Given the description of an element on the screen output the (x, y) to click on. 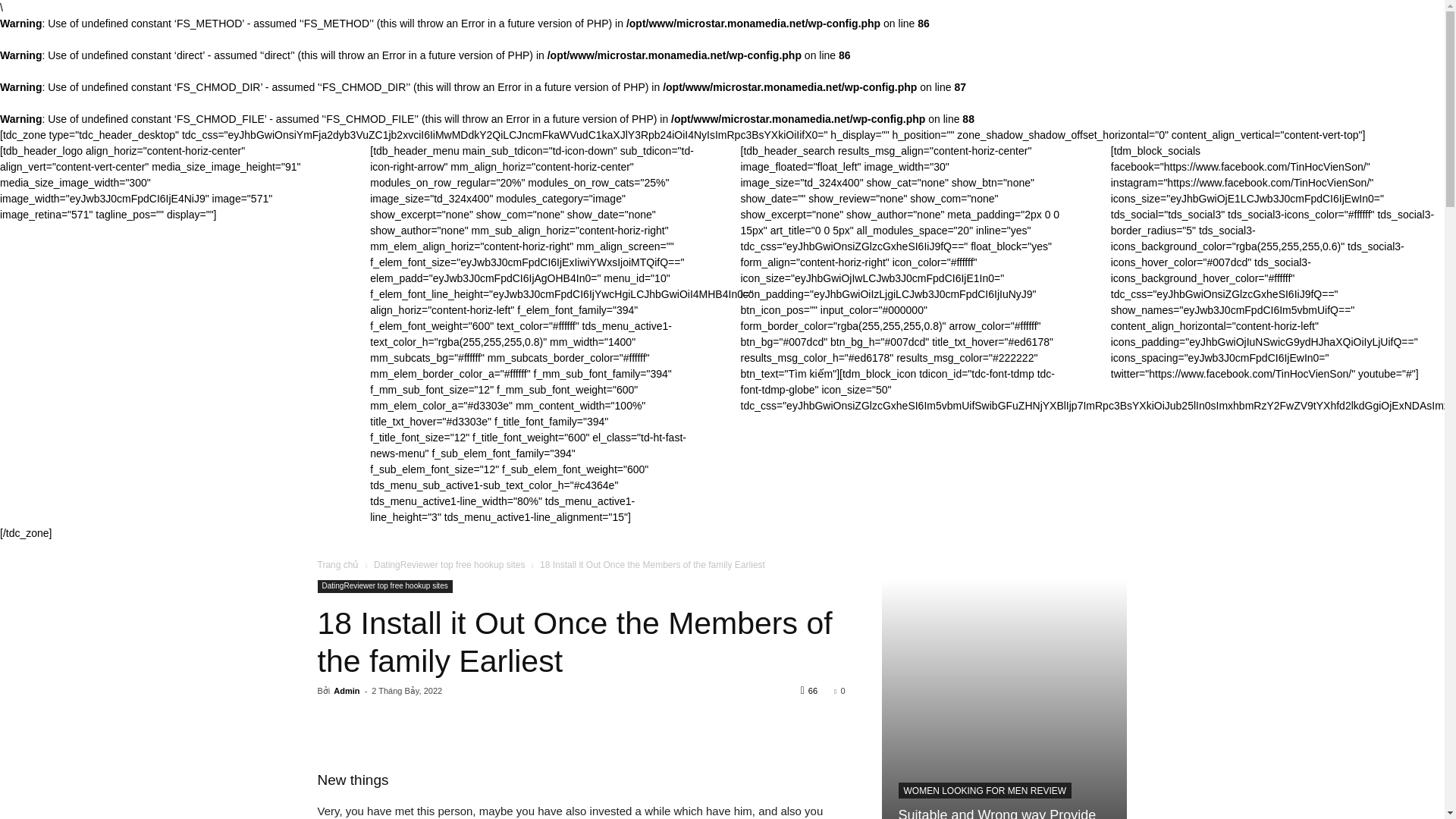
DatingReviewer top free hookup sites (449, 564)
0 (839, 690)
WOMEN LOOKING FOR MEN REVIEW (984, 790)
DatingReviewer top free hookup sites (384, 585)
Suitable and Wrong way Provide Your wife Place (1003, 699)
Admin (346, 690)
Suitable and Wrong way Provide Your wife Place (997, 813)
Suitable and Wrong way Provide Your wife Place (997, 813)
